Given the description of an element on the screen output the (x, y) to click on. 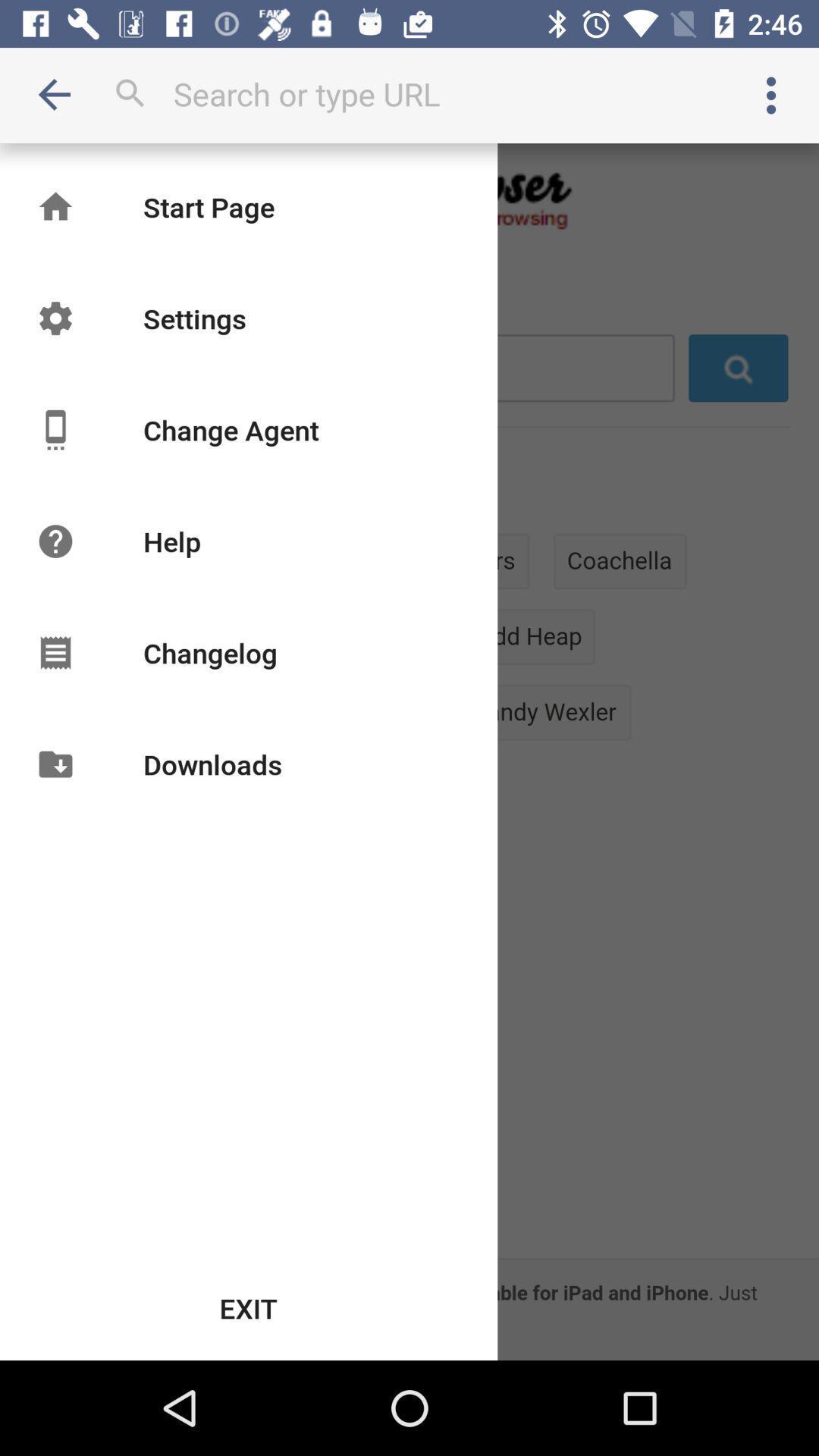
open settings (771, 95)
